Given the description of an element on the screen output the (x, y) to click on. 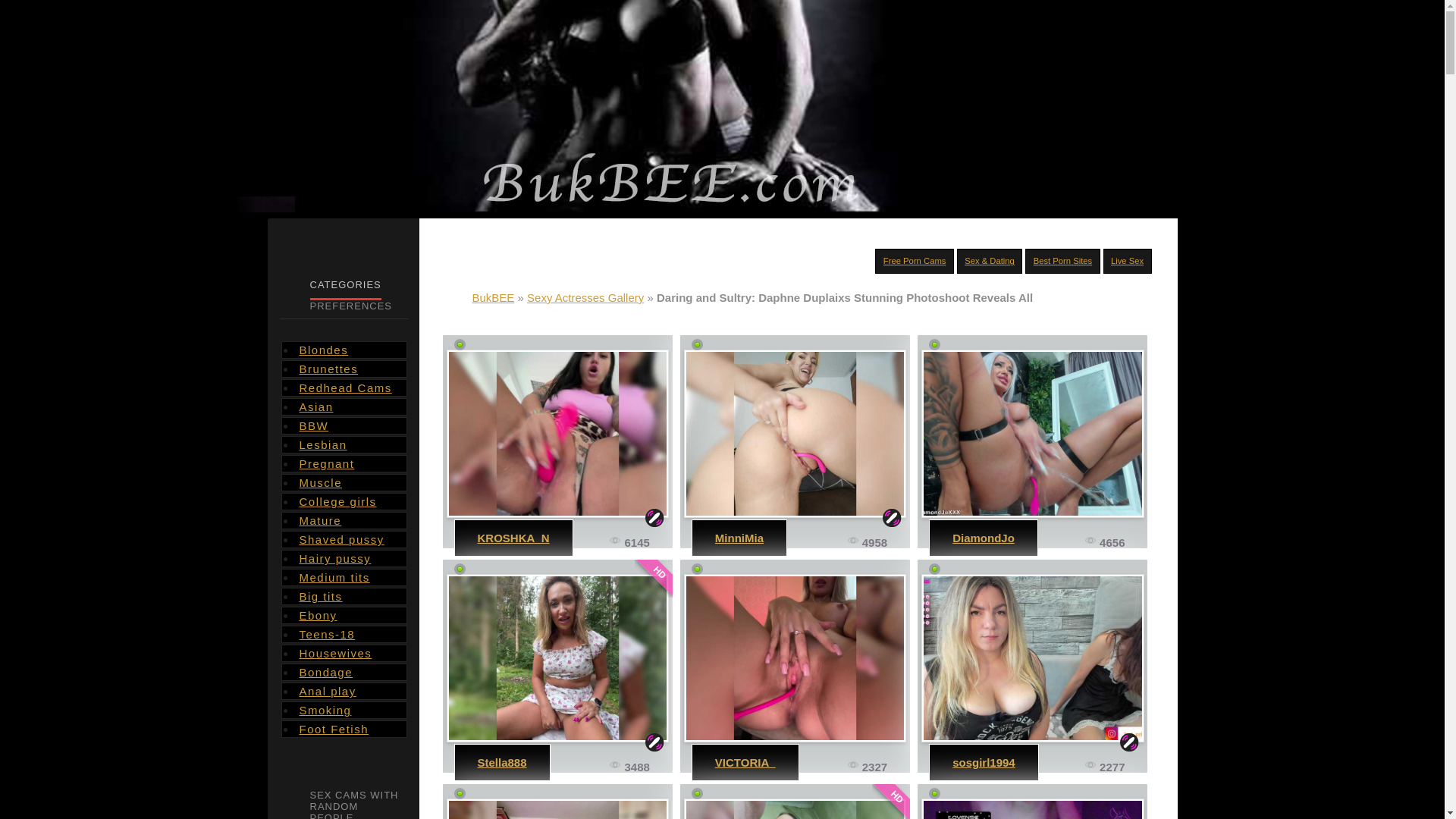
Live Sex (1126, 260)
Stella888 (502, 762)
jonymarta (1031, 808)
Free Porn Cams (914, 260)
sosgirl1994 (983, 762)
MinniMia (738, 537)
Best Porn Sites (1063, 260)
Shrimprolls (556, 808)
DiamondJo (1031, 433)
BukBEE (492, 297)
sosgirl1994 (1031, 658)
MinniMia (794, 433)
Sexy Actresses Gallery (585, 297)
Cleopatra1990 (794, 808)
DiamondJo (983, 537)
